Given the description of an element on the screen output the (x, y) to click on. 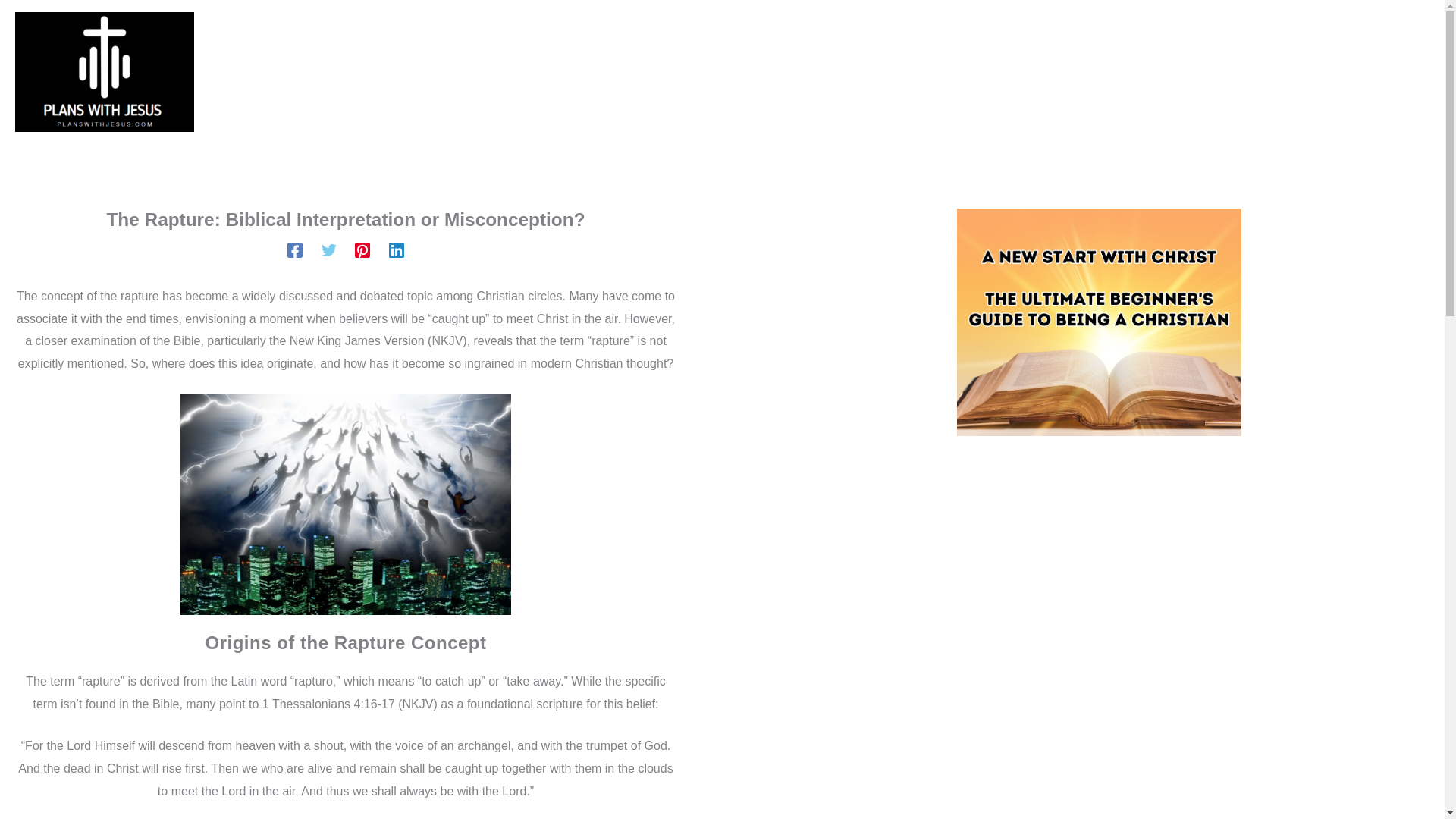
FAQ (876, 71)
Contact Us (675, 71)
Latest (574, 71)
About Us (788, 71)
